Given the description of an element on the screen output the (x, y) to click on. 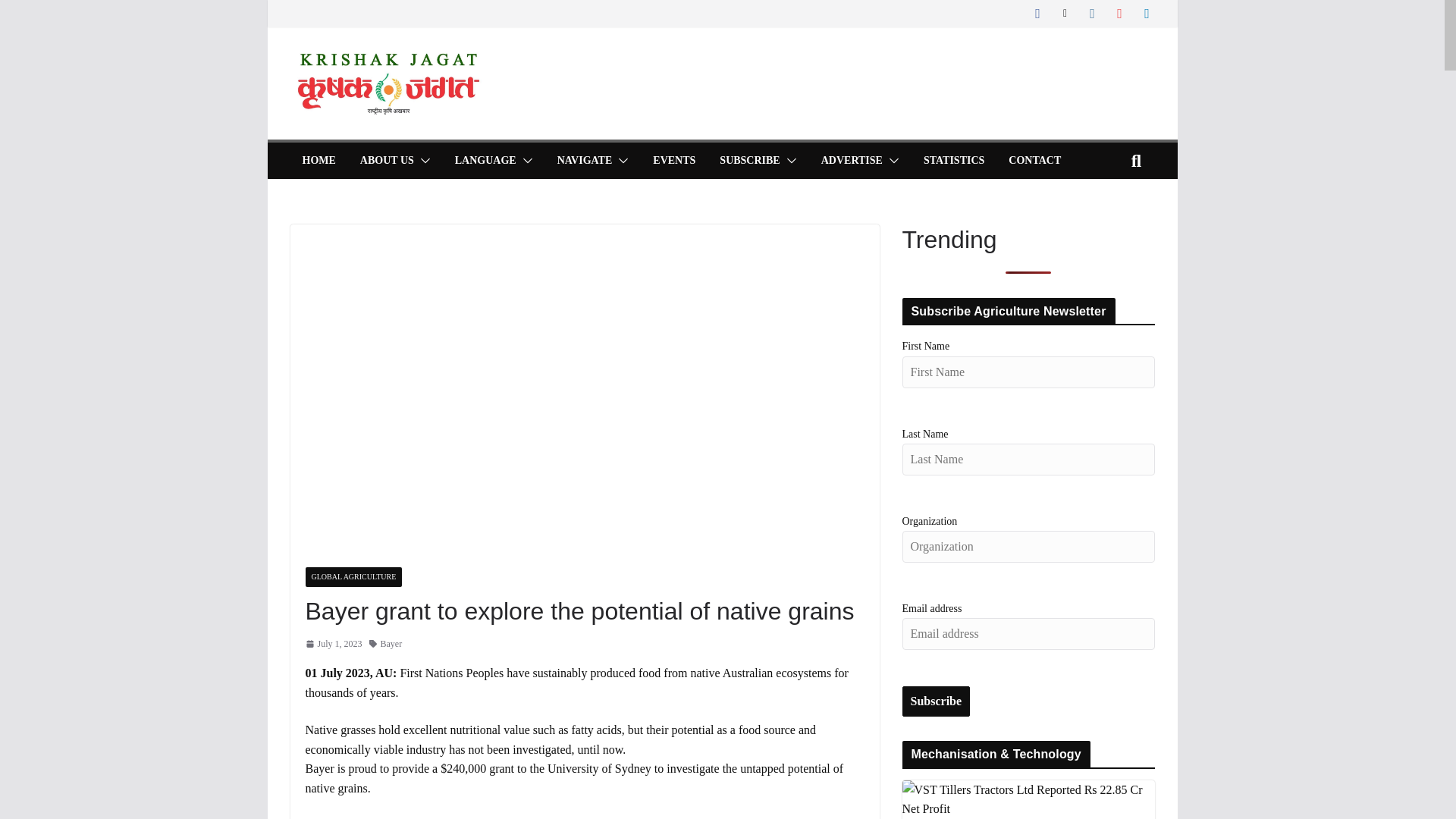
11:17 pm (332, 644)
LANGUAGE (485, 160)
ADVERTISE (851, 160)
HOME (317, 160)
Subscribe (936, 701)
EVENTS (673, 160)
ABOUT US (386, 160)
NAVIGATE (584, 160)
SUBSCRIBE (748, 160)
